Given the description of an element on the screen output the (x, y) to click on. 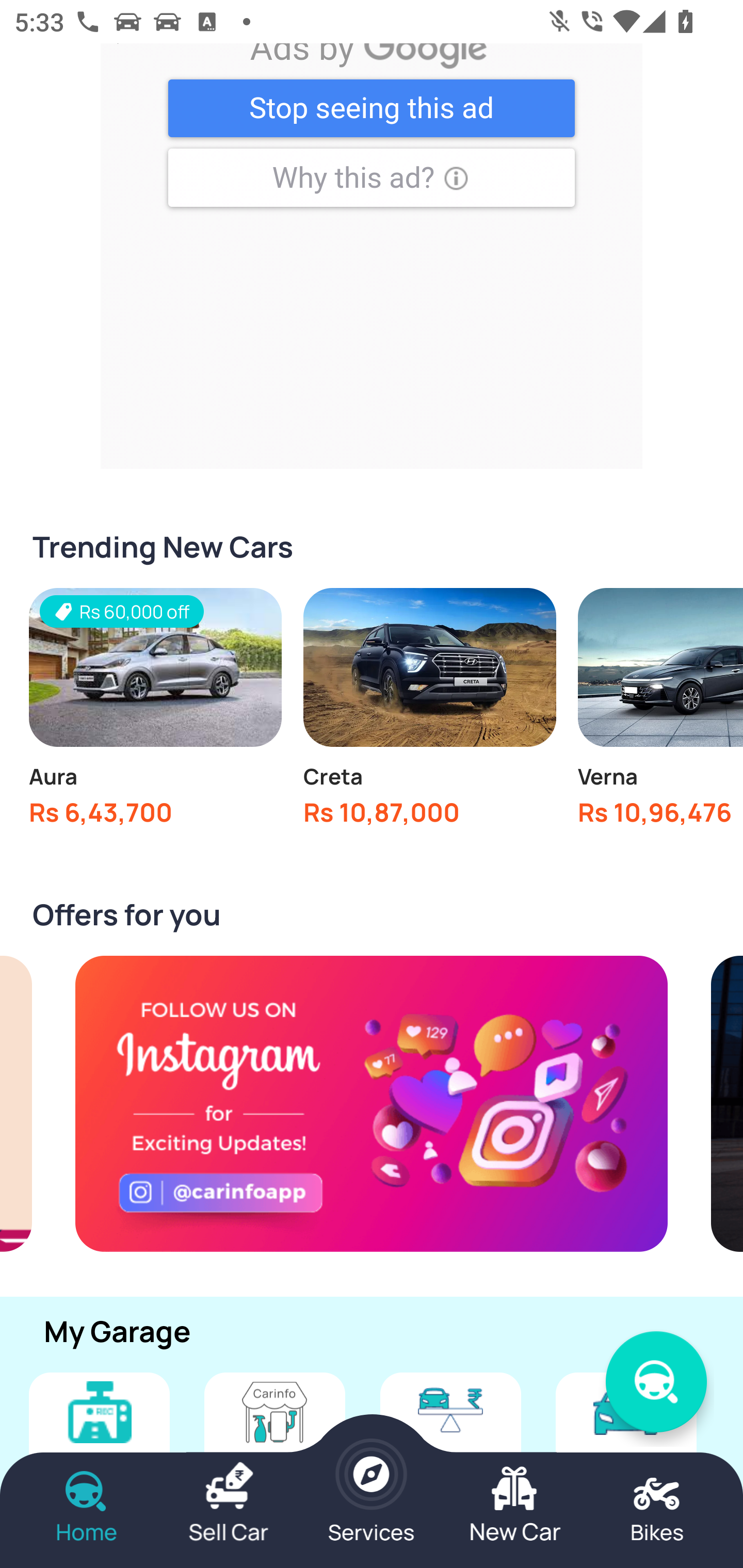
Rs 60,000 off Aura Rs 6,43,700 onwards (154, 712)
Creta Rs 10,87,000 onwards (429, 712)
Verna Rs 10,96,476 onwards (660, 712)
